Given the description of an element on the screen output the (x, y) to click on. 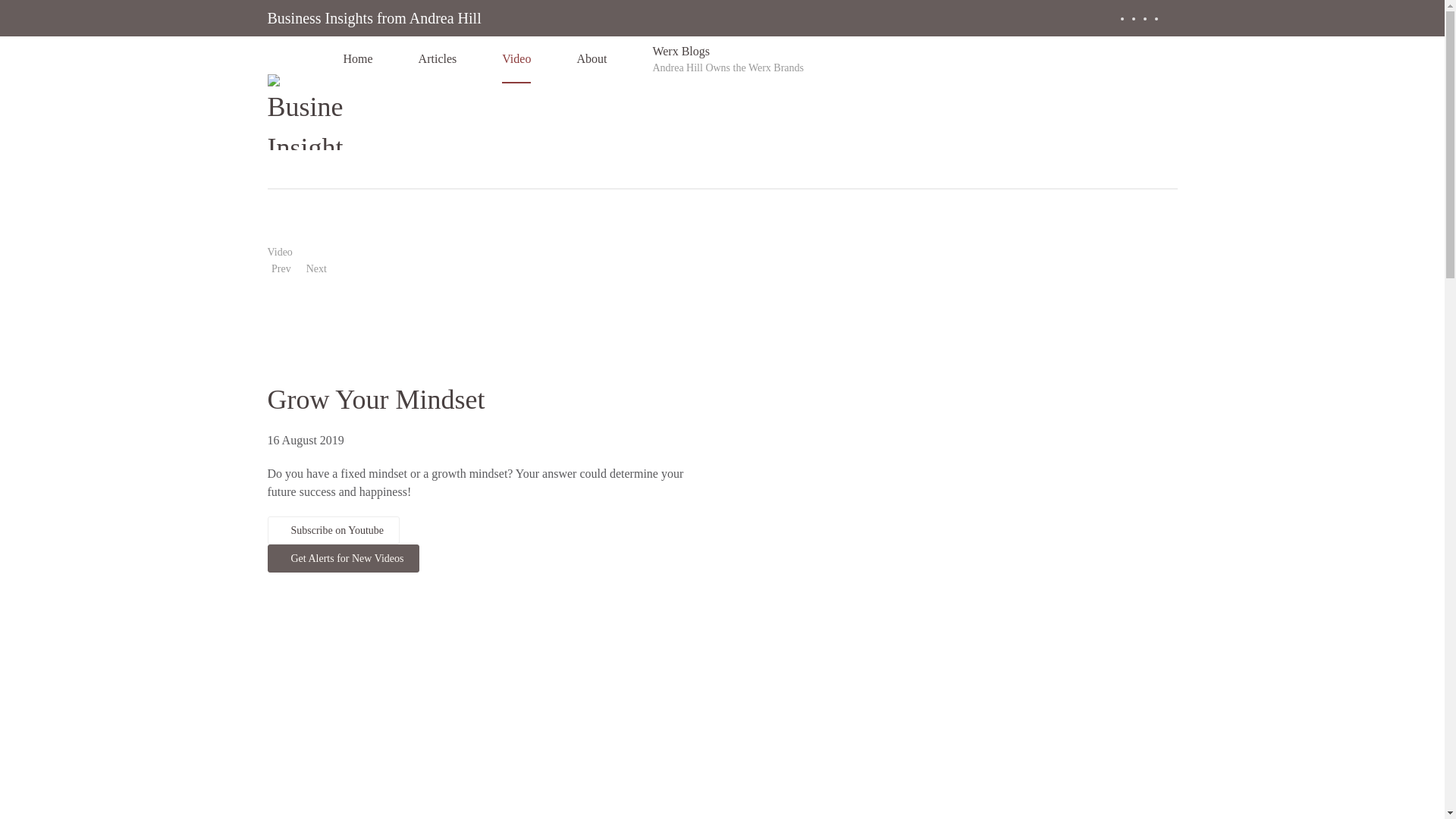
Subscribe on Youtube (332, 530)
Get Alerts for New Videos (342, 558)
Video (279, 251)
Next (727, 58)
Prev (317, 269)
